Given the description of an element on the screen output the (x, y) to click on. 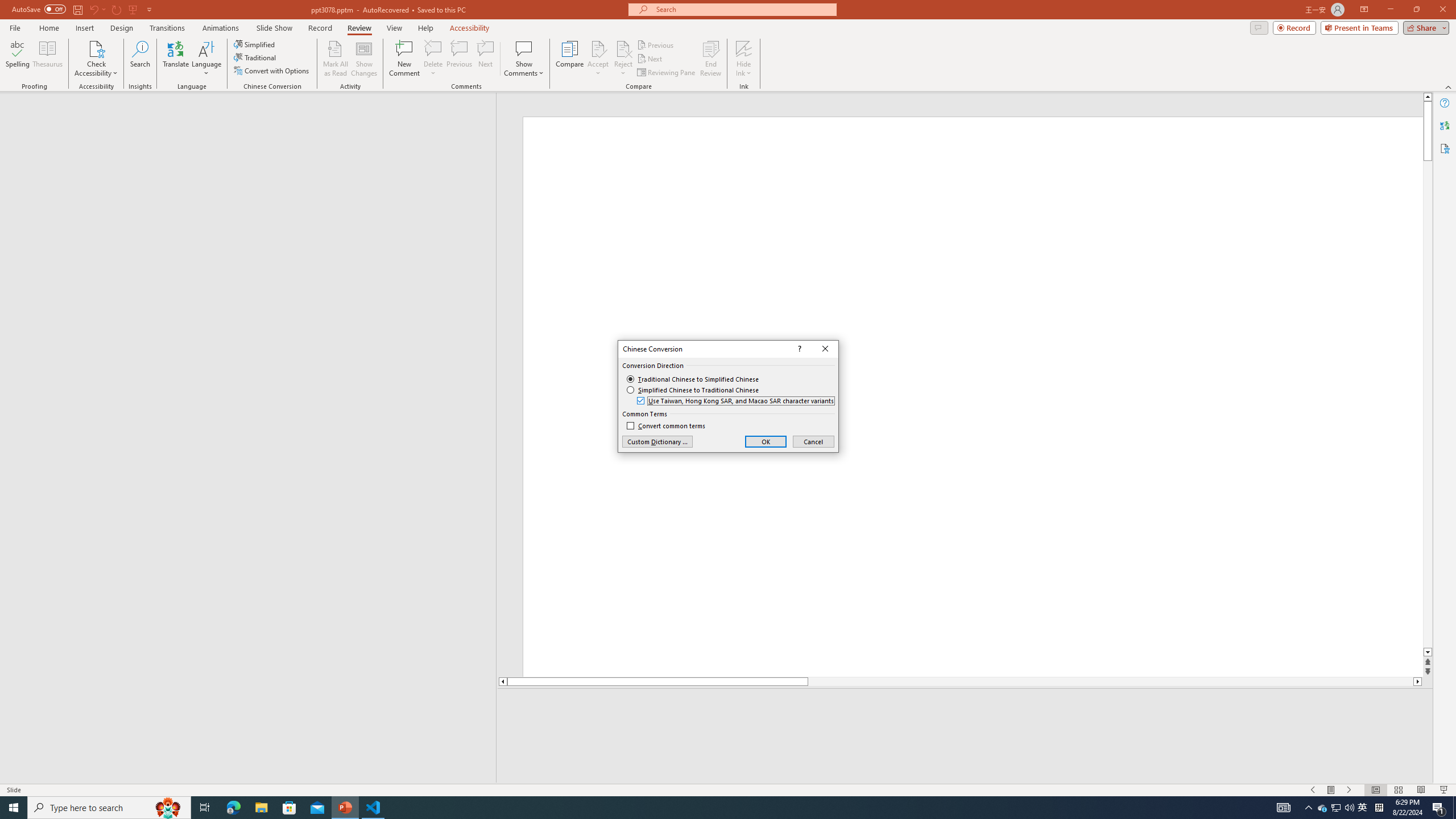
Thesaurus... (47, 58)
Simplified (254, 44)
Delete (432, 48)
Cancel (813, 440)
Outline (252, 114)
